Given the description of an element on the screen output the (x, y) to click on. 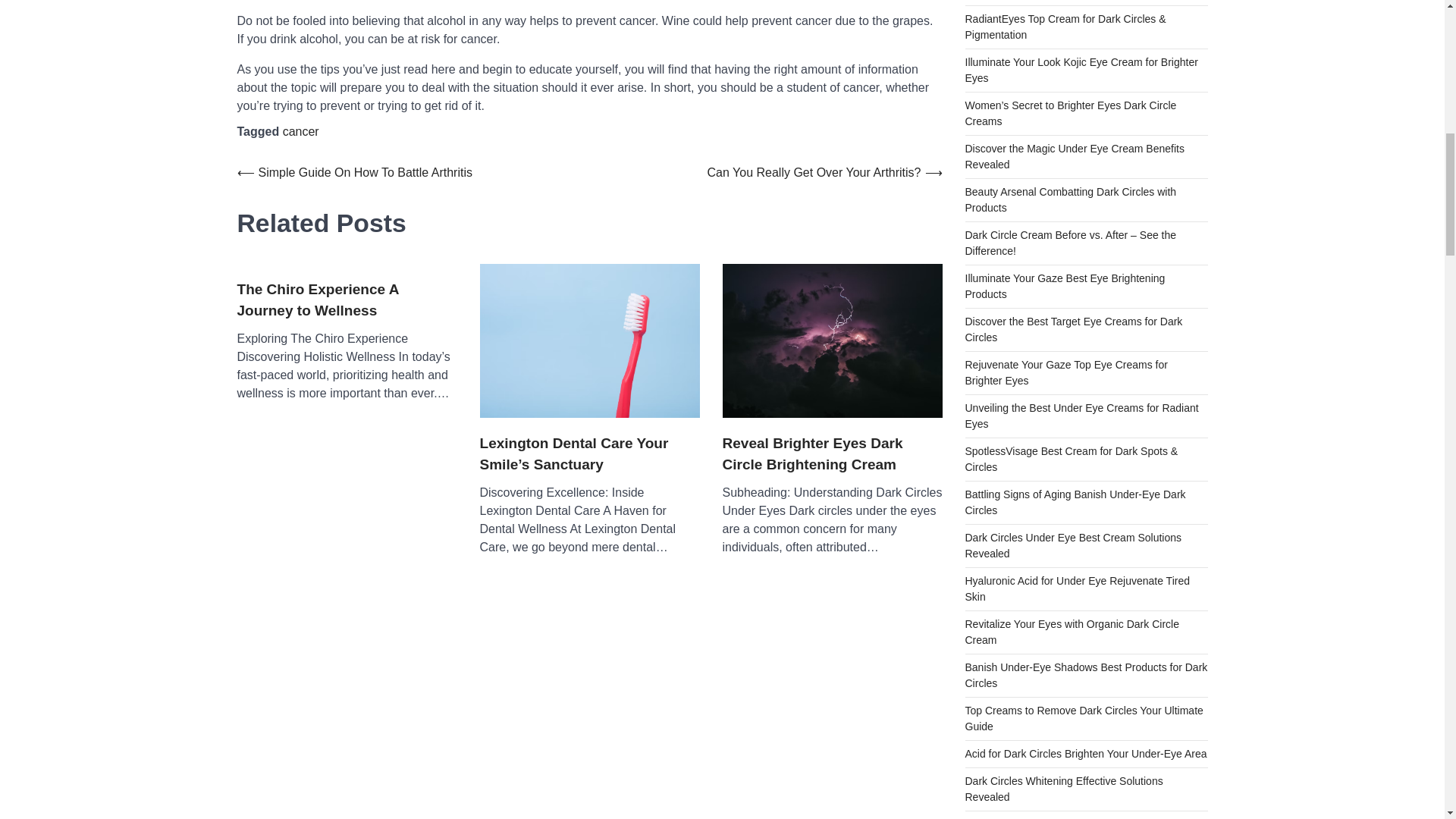
The Chiro Experience A Journey to Wellness (346, 300)
cancer (300, 131)
Reveal Brighter Eyes Dark Circle Brightening Cream (832, 340)
Reveal Brighter Eyes Dark Circle Brightening Cream (832, 454)
